Given the description of an element on the screen output the (x, y) to click on. 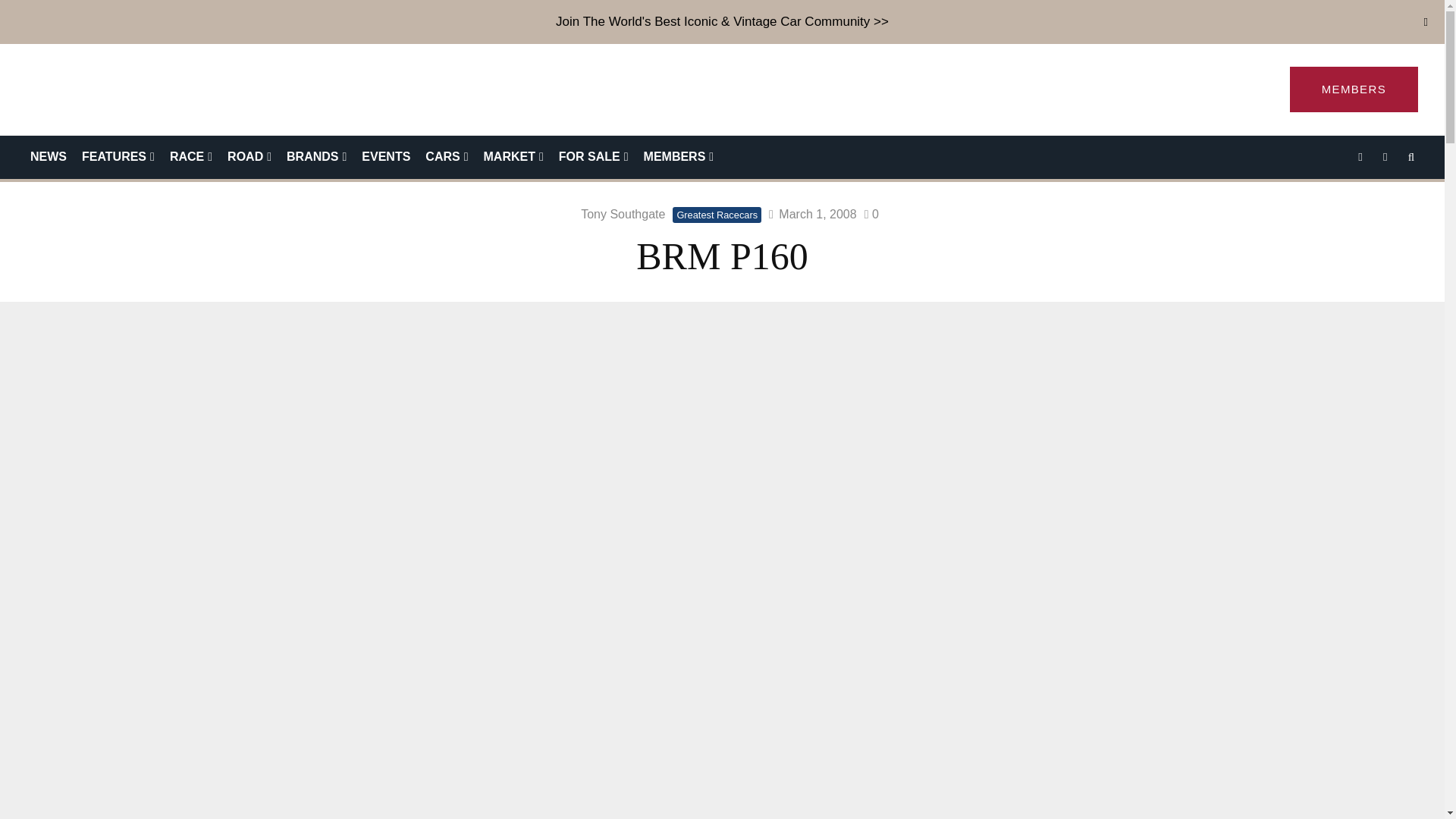
MEMBERS (1354, 89)
FEATURES (117, 157)
NEWS (48, 157)
RACE (190, 157)
